Given the description of an element on the screen output the (x, y) to click on. 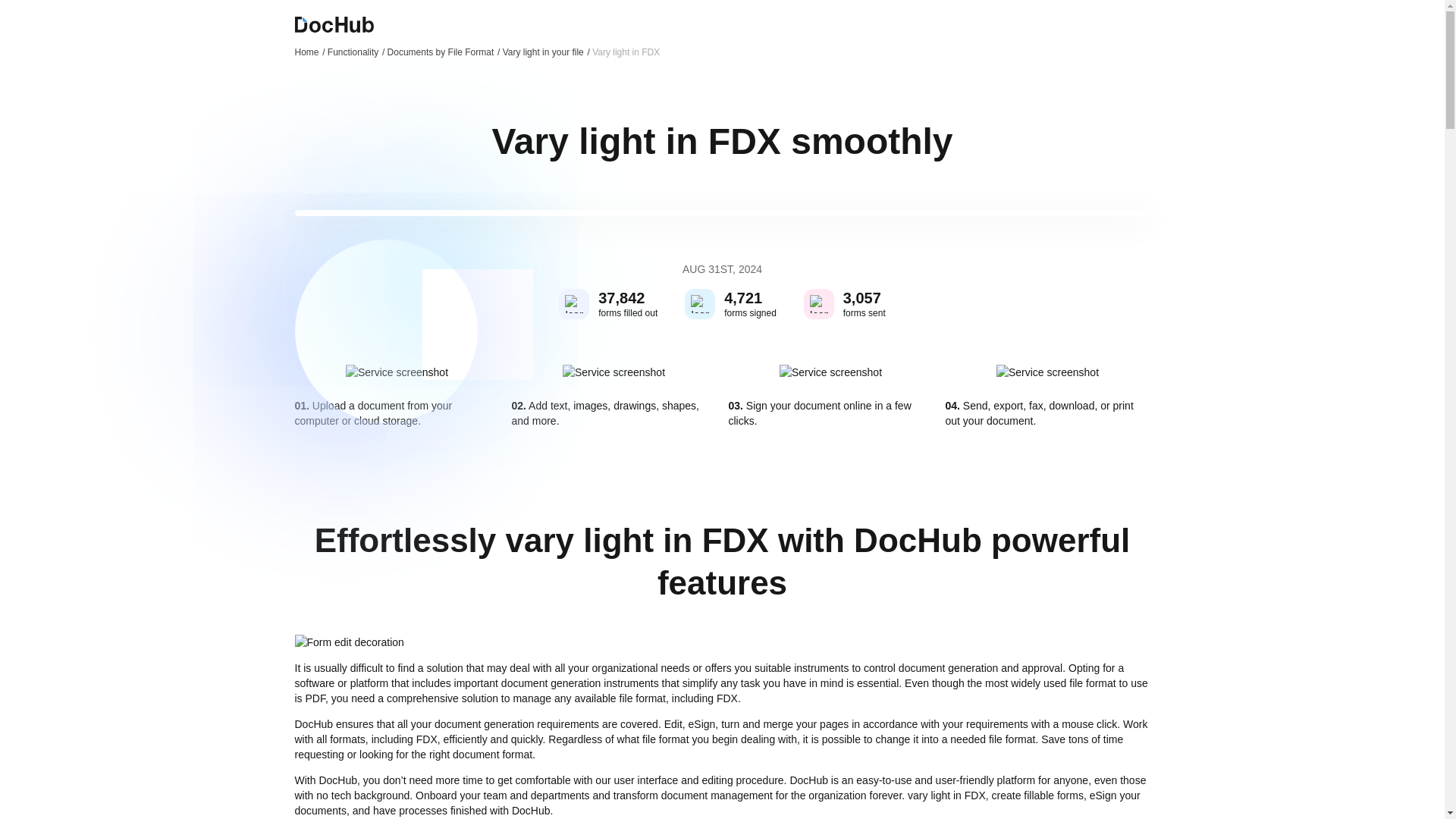
Documents by File Format (443, 51)
Vary light in your file (545, 51)
Home (309, 51)
Functionality (355, 51)
